Given the description of an element on the screen output the (x, y) to click on. 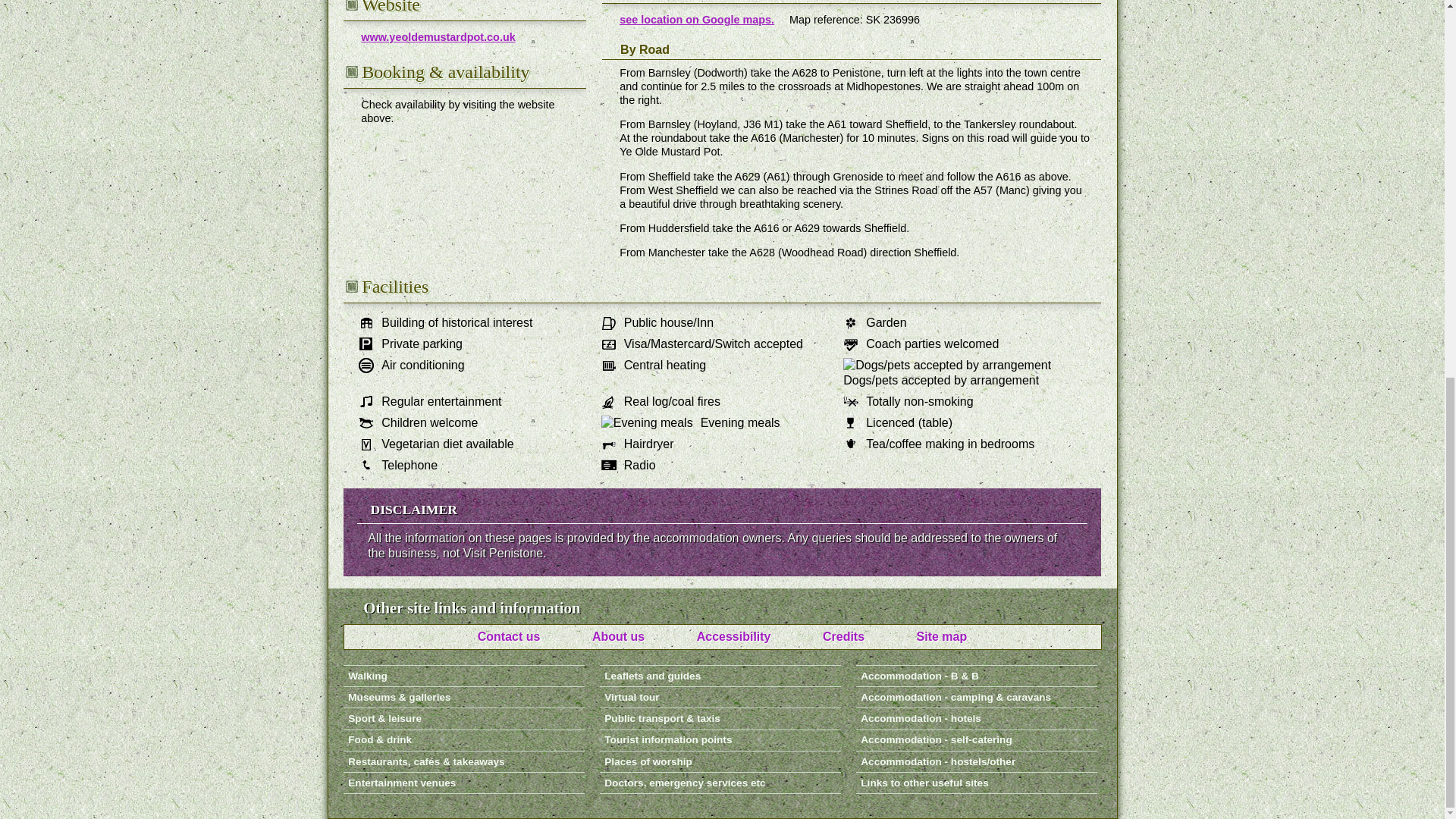
www.yeoldemustardpot.co.uk (438, 37)
Vegetarian diet available (369, 444)
Doctors, emergency services etc (719, 783)
Building of historical interest (369, 322)
Tourist information points (719, 740)
Entertainment venues (462, 783)
Hairdryer (612, 444)
Walking (462, 676)
see location on Google maps (697, 19)
Links to other useful sites (976, 783)
